Given the description of an element on the screen output the (x, y) to click on. 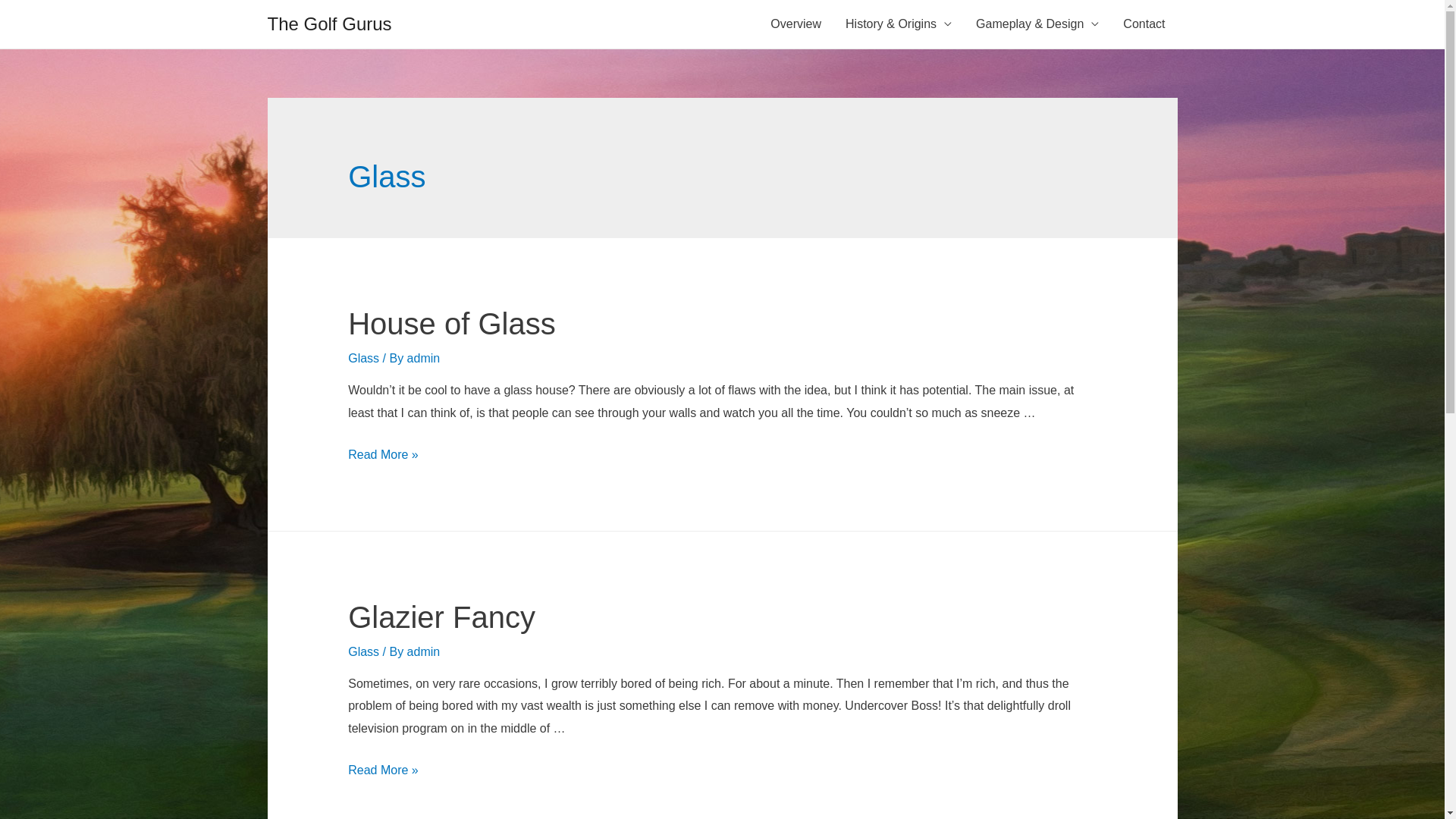
History & Origins Element type: text (898, 24)
Glass Element type: text (363, 357)
House of Glass Element type: text (451, 323)
Contact Element type: text (1143, 24)
admin Element type: text (423, 357)
Glass Element type: text (363, 651)
admin Element type: text (423, 651)
Gameplay & Design Element type: text (1036, 24)
Overview Element type: text (795, 24)
Glazier Fancy Element type: text (441, 616)
The Golf Gurus Element type: text (328, 23)
